Given the description of an element on the screen output the (x, y) to click on. 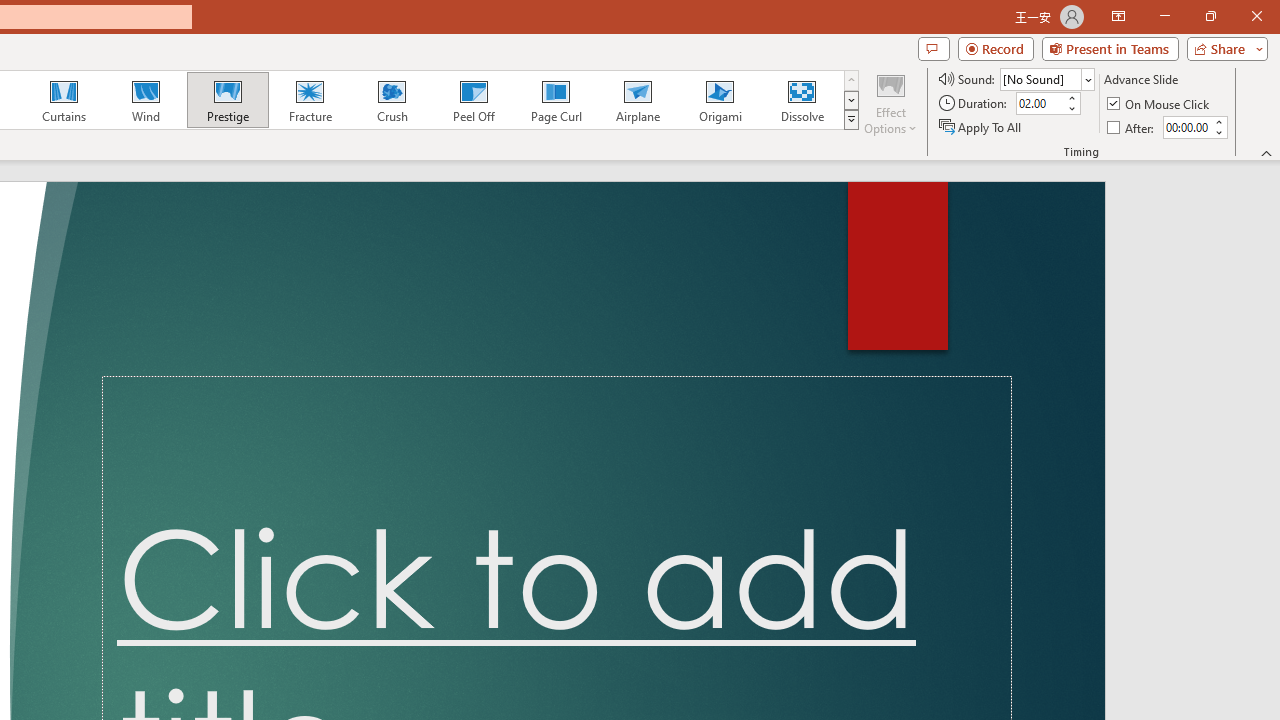
Page Curl (555, 100)
Sound (1046, 78)
After (1186, 127)
After (1131, 126)
Peel Off (473, 100)
Transition Effects (850, 120)
Effect Options (890, 102)
Prestige (227, 100)
